Given the description of an element on the screen output the (x, y) to click on. 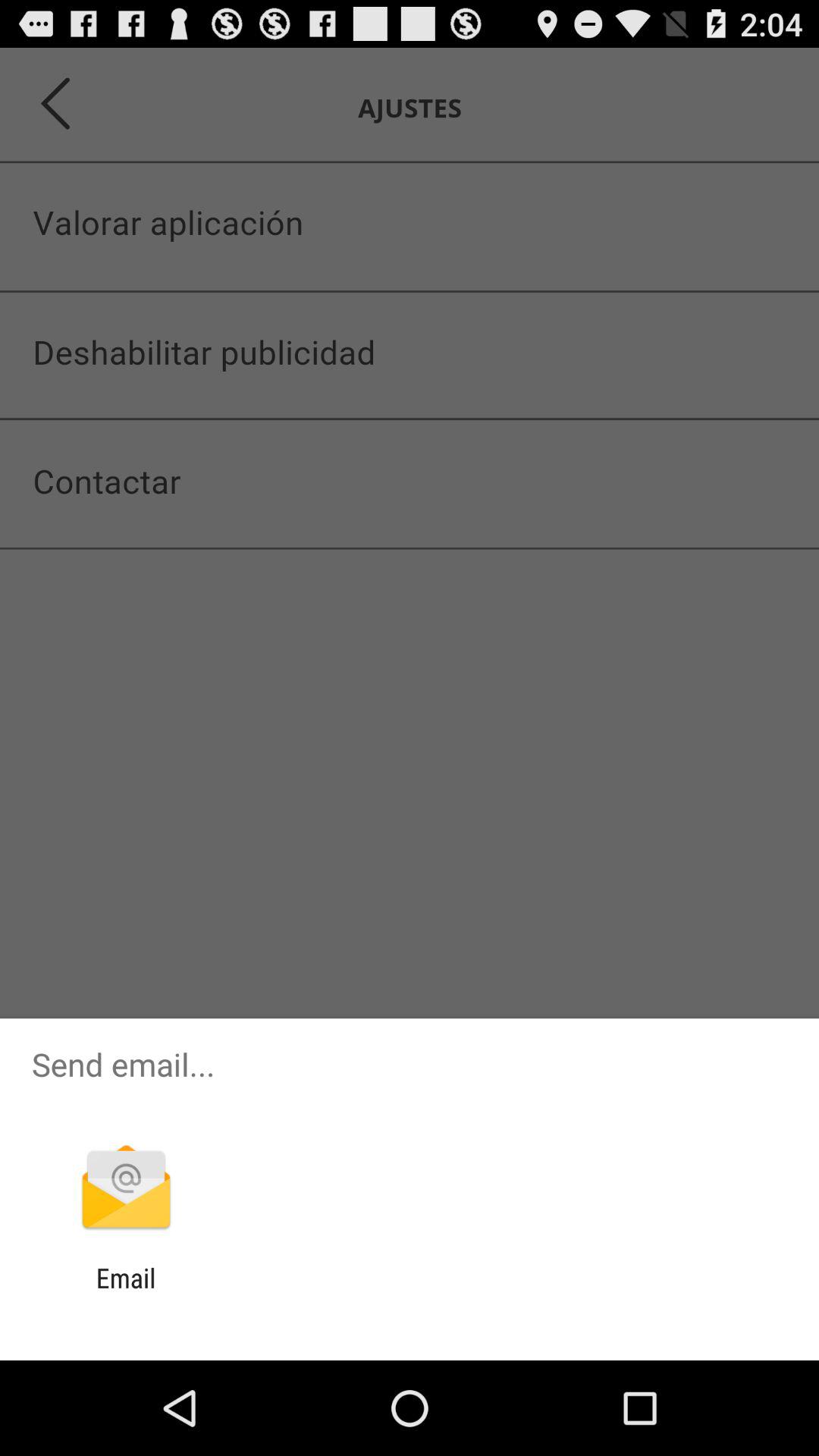
press item below the send email... item (126, 1189)
